Given the description of an element on the screen output the (x, y) to click on. 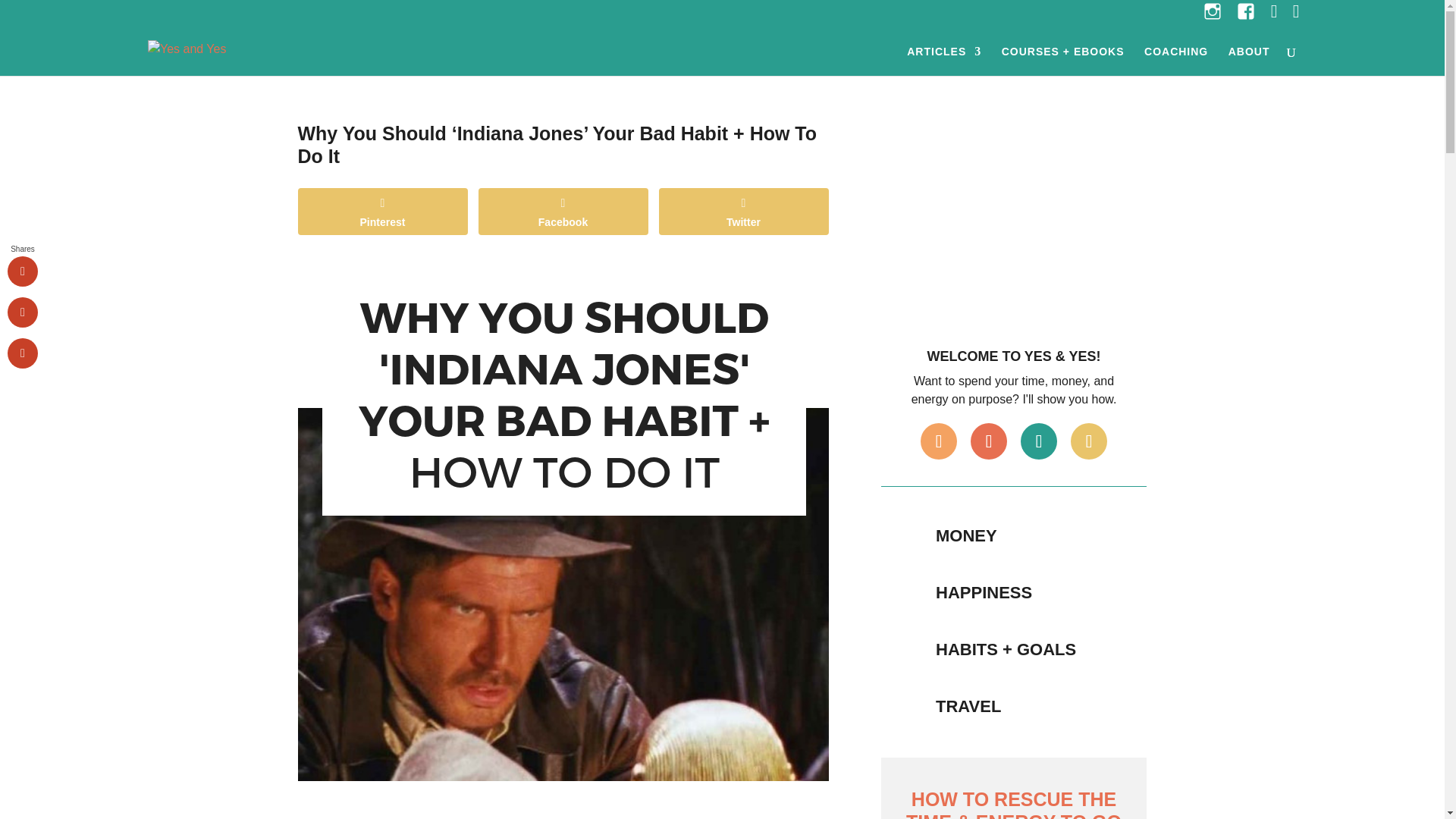
Follow on Instagram (938, 441)
Follow on Facebook (1038, 441)
HAPPINESS (984, 592)
Pinterest (382, 211)
Follow on RSS (1088, 441)
ABOUT (1248, 60)
ARTICLES (944, 60)
MONEY (966, 535)
FACEBOOK (1245, 16)
Facebook (562, 211)
